Given the description of an element on the screen output the (x, y) to click on. 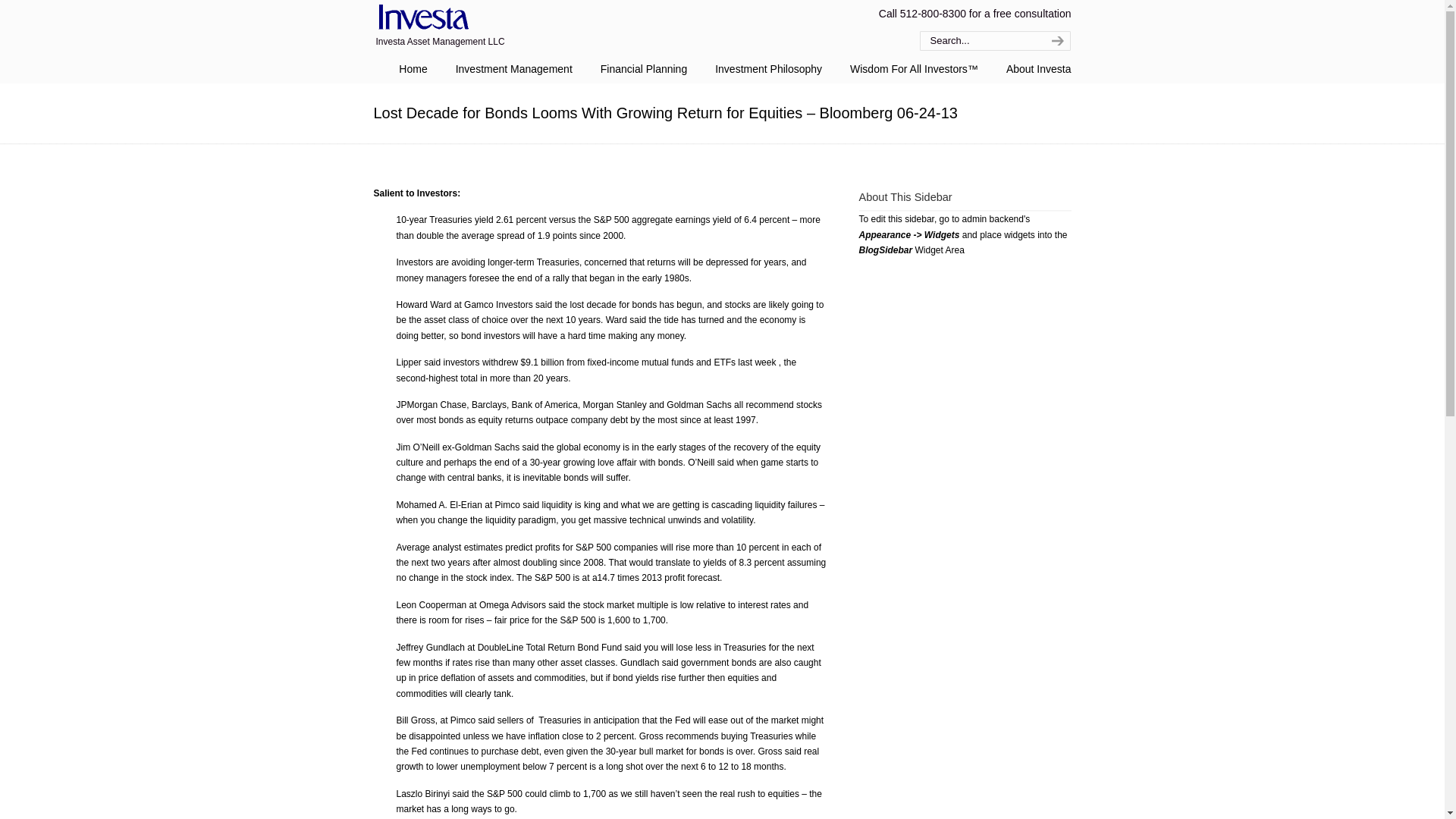
search (1055, 40)
Home (413, 69)
Investa Asset Management LLC (419, 17)
About Investa (1038, 69)
Investment Philosophy (768, 69)
Search... (978, 40)
Investa Asset Management LLC (419, 17)
search (1055, 40)
Investment Management (514, 69)
search (1055, 40)
Financial Planning (643, 69)
